Given the description of an element on the screen output the (x, y) to click on. 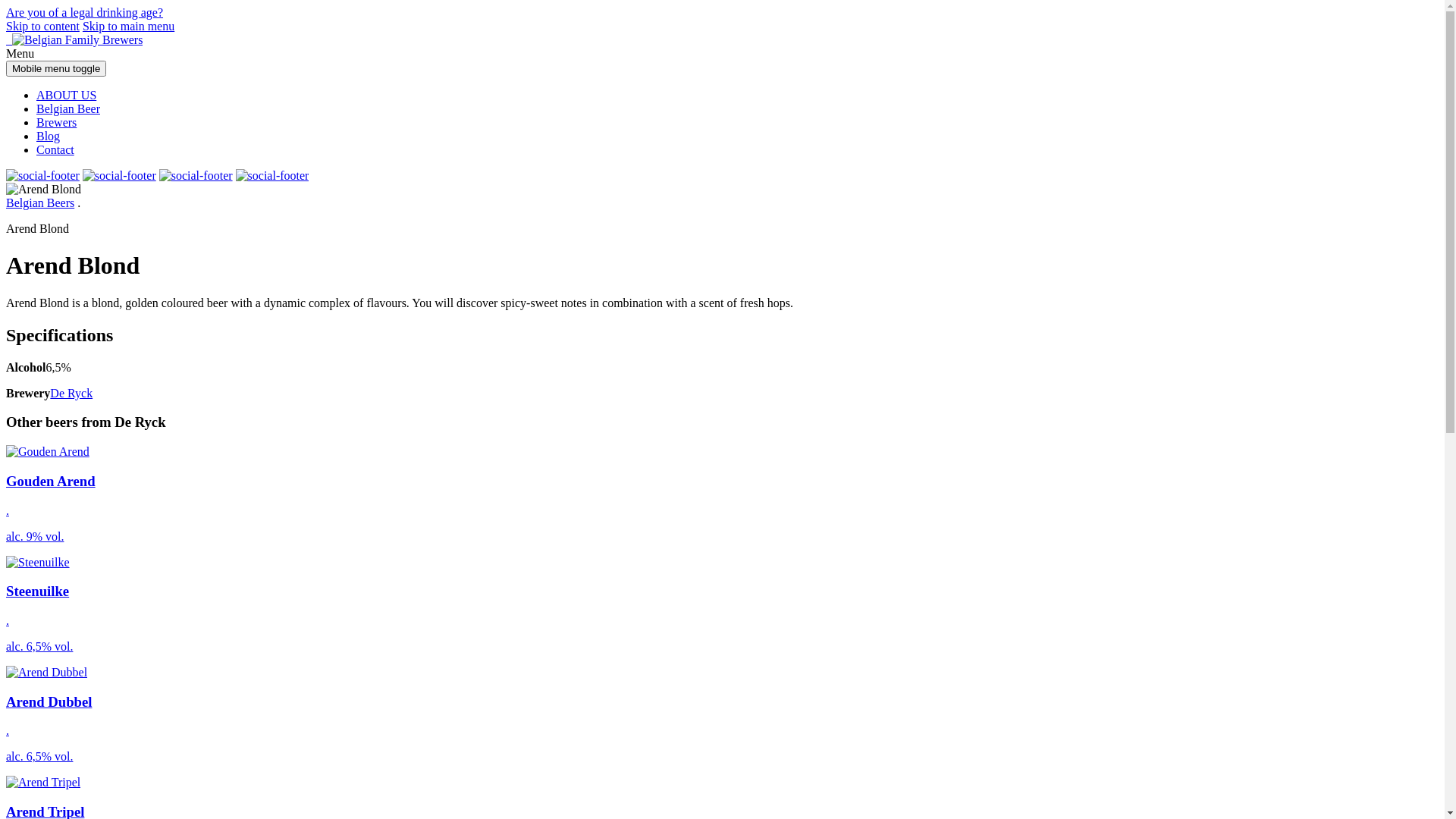
Brewers Element type: text (56, 122)
Skip to main menu Element type: text (128, 25)
Arend Dubbel
.
alc. 6,5% vol. Element type: text (722, 714)
Contact Element type: text (55, 149)
Gouden Arend
.
alc. 9% vol. Element type: text (722, 493)
  Element type: text (74, 39)
ABOUT US Element type: text (66, 94)
Skip to content Element type: text (42, 25)
Are you of a legal drinking age? Element type: text (84, 12)
Belgian Beers Element type: text (40, 202)
Blog Element type: text (47, 135)
Belgian Beer Element type: text (68, 108)
Mobile menu toggle Element type: text (56, 68)
De Ryck Element type: text (71, 392)
Belgian Family Brewers Element type: hover (74, 39)
Steenuilke
.
alc. 6,5% vol. Element type: text (722, 604)
